Given the description of an element on the screen output the (x, y) to click on. 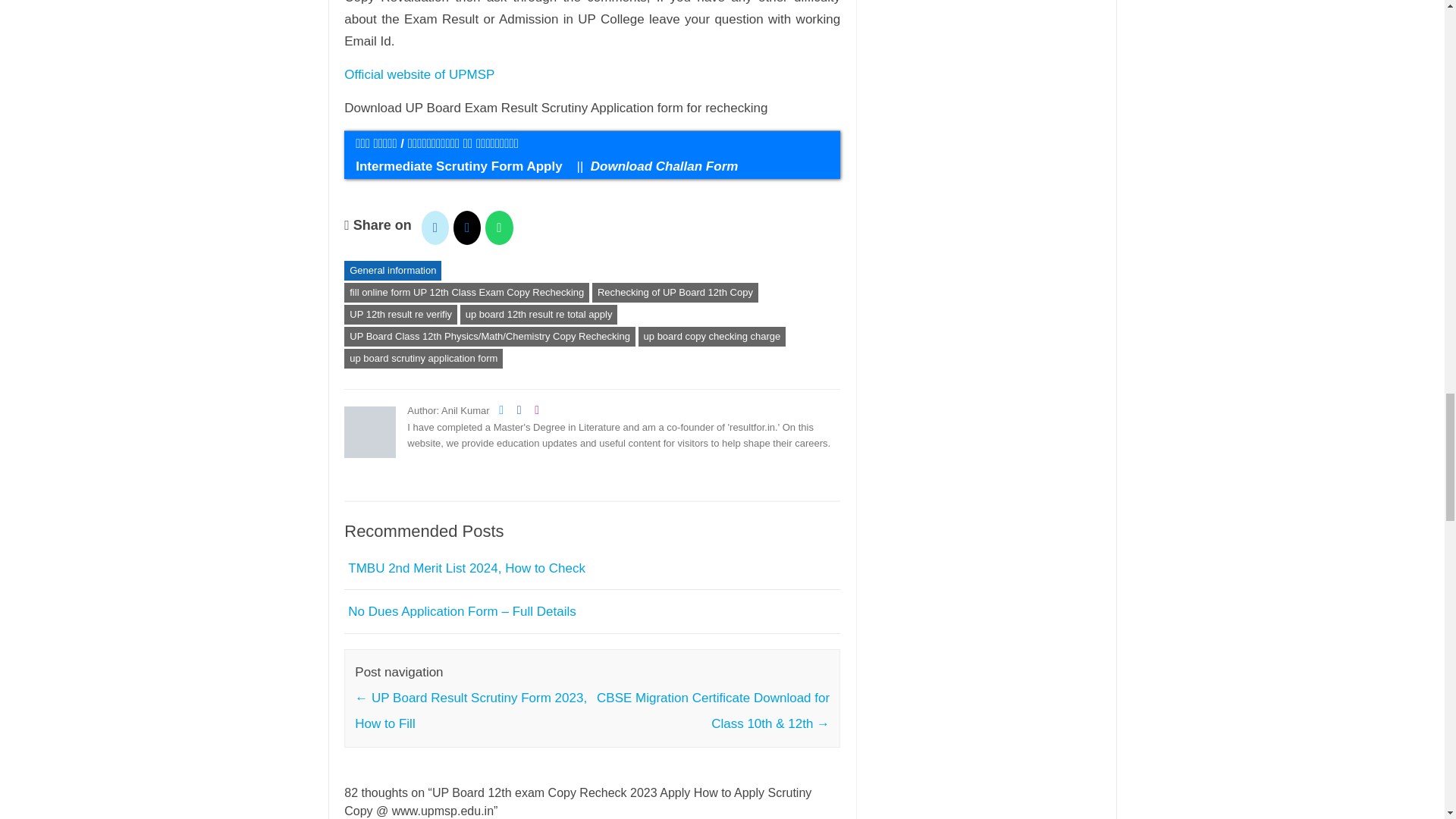
UP 12th result re verifiy (400, 314)
General information (392, 270)
fill online form UP 12th Class Exam Copy Rechecking (466, 292)
Official website of UPMSP  (420, 74)
TMBU 2nd Merit List 2024, How to Check (466, 568)
up board 12th result re total apply (538, 314)
Rechecking of UP Board 12th Copy (675, 292)
up board scrutiny application form (422, 358)
Download Challan Form (662, 165)
up board copy checking charge (712, 336)
Intermediate Scrutiny Form Apply  (460, 165)
